Given the description of an element on the screen output the (x, y) to click on. 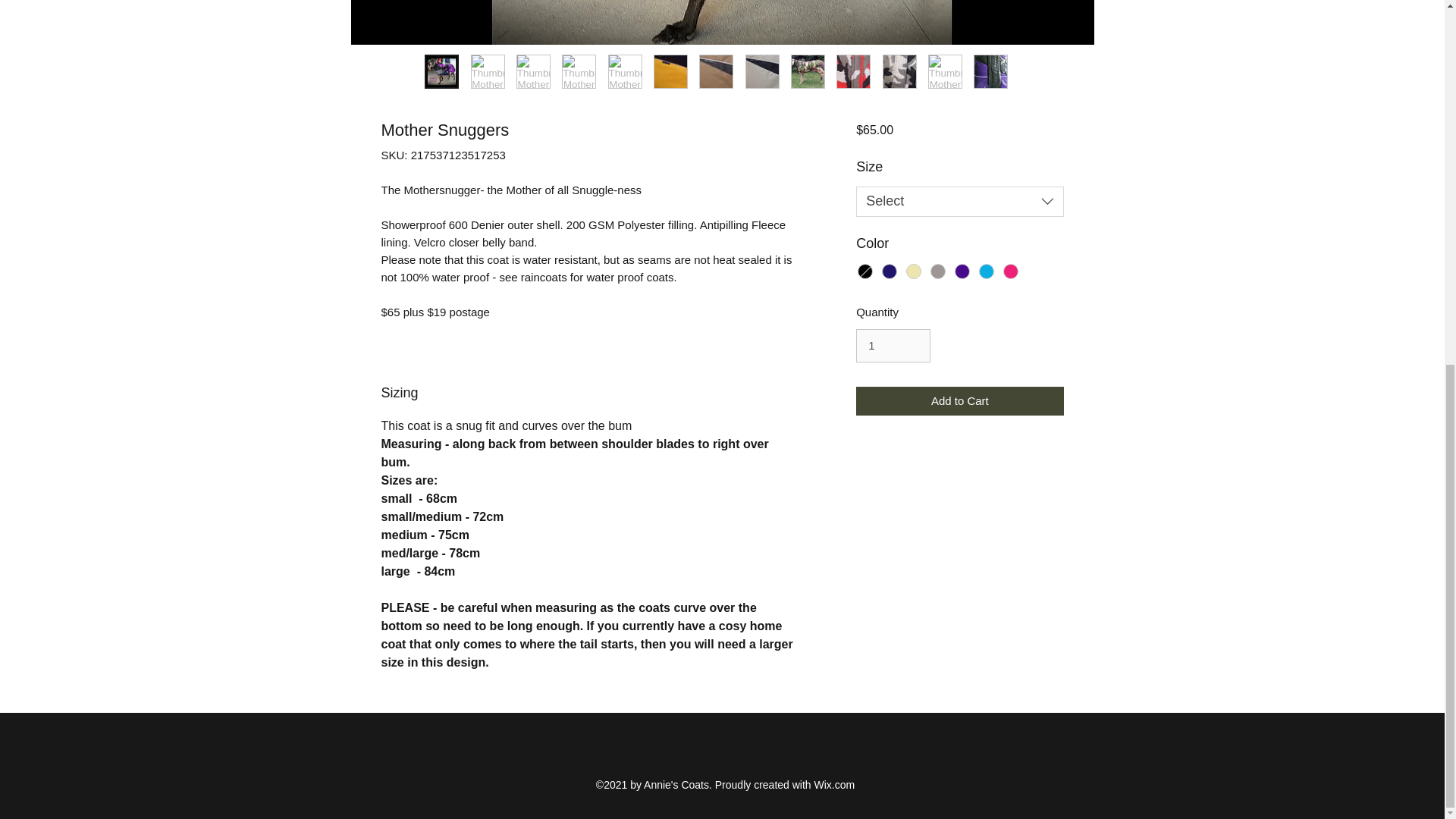
Select (959, 201)
1 (893, 345)
Add to Cart (959, 401)
